Given the description of an element on the screen output the (x, y) to click on. 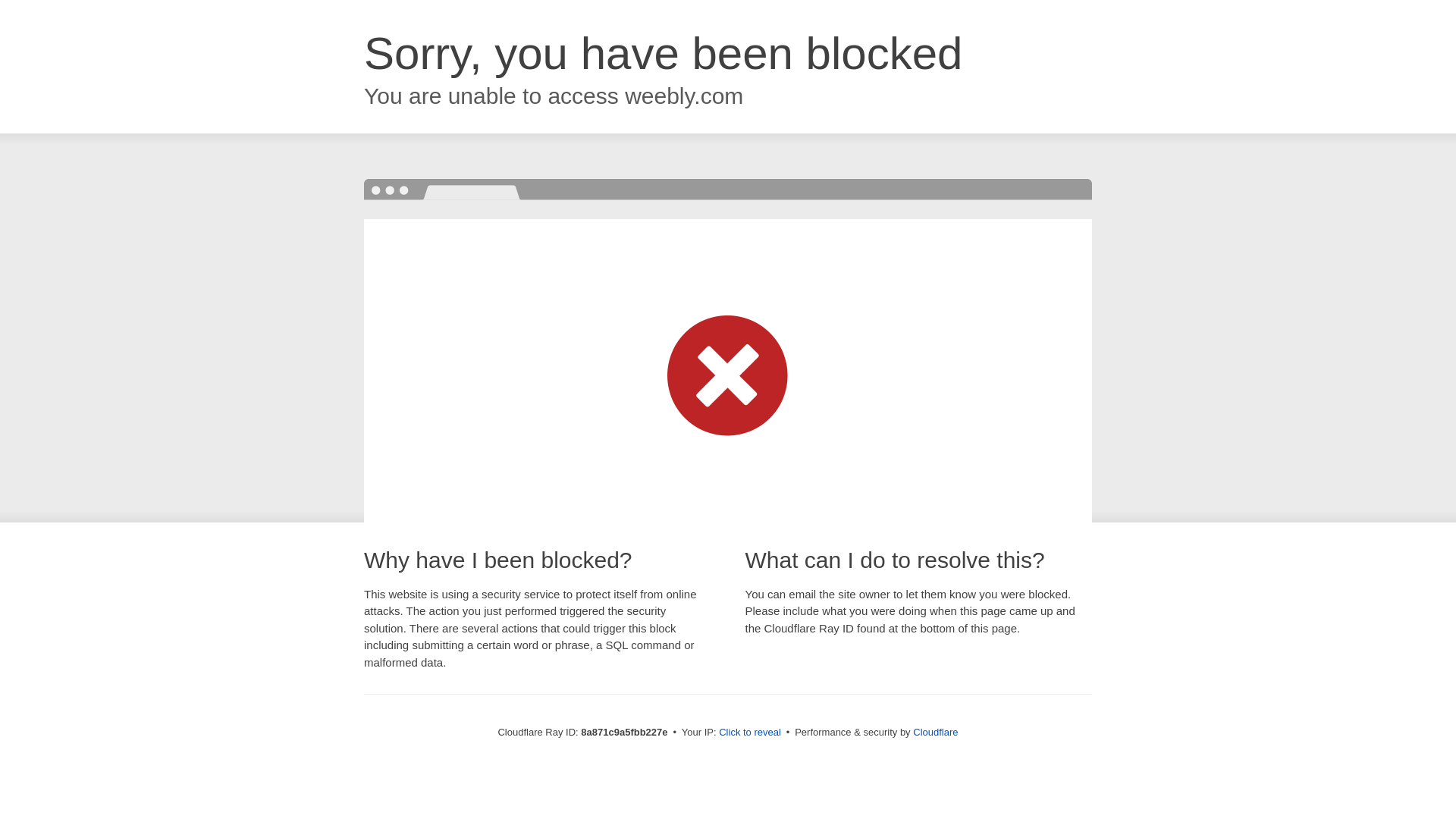
Cloudflare (935, 731)
Click to reveal (749, 732)
